Given the description of an element on the screen output the (x, y) to click on. 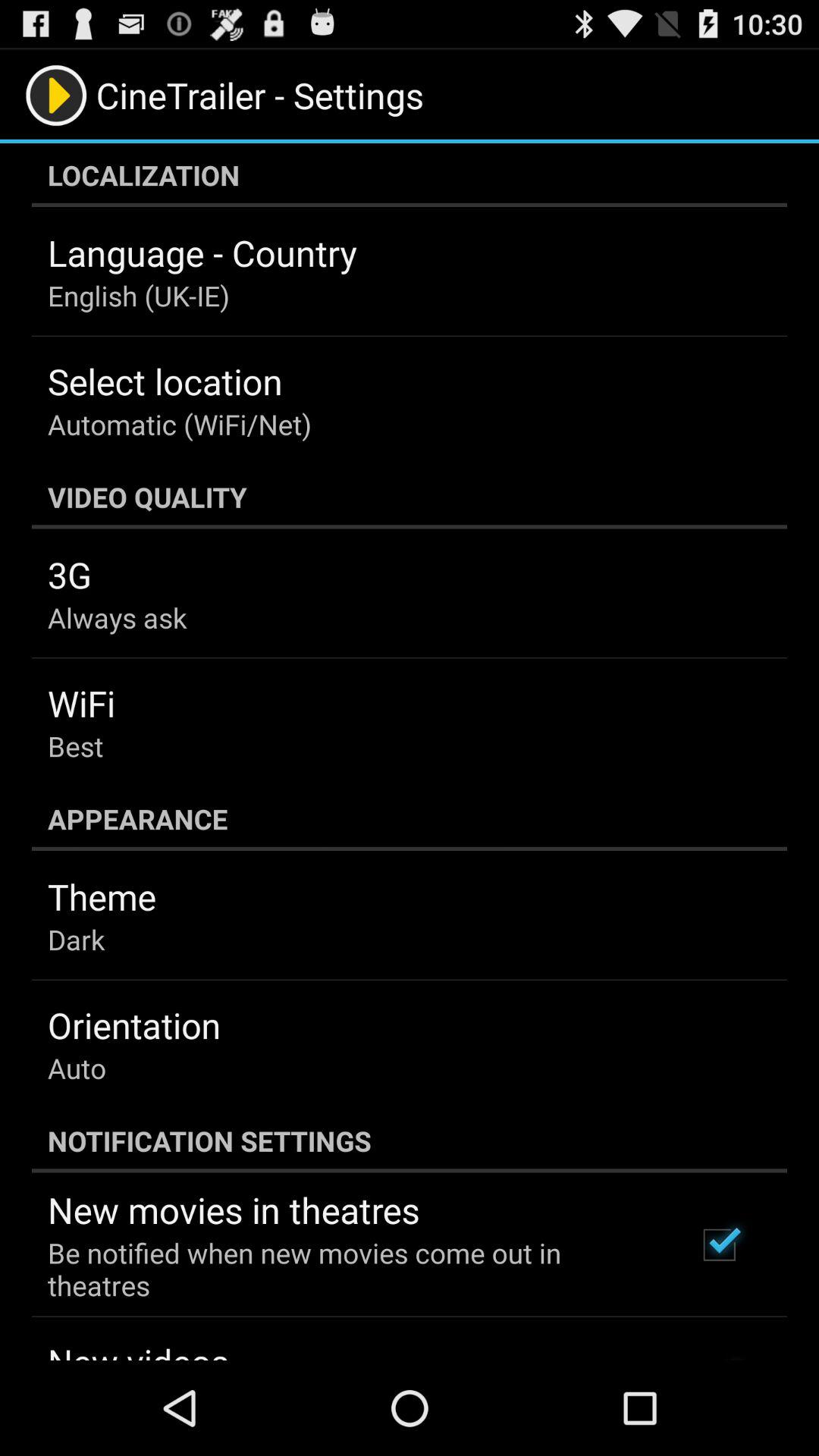
select the icon above wifi (117, 617)
